Given the description of an element on the screen output the (x, y) to click on. 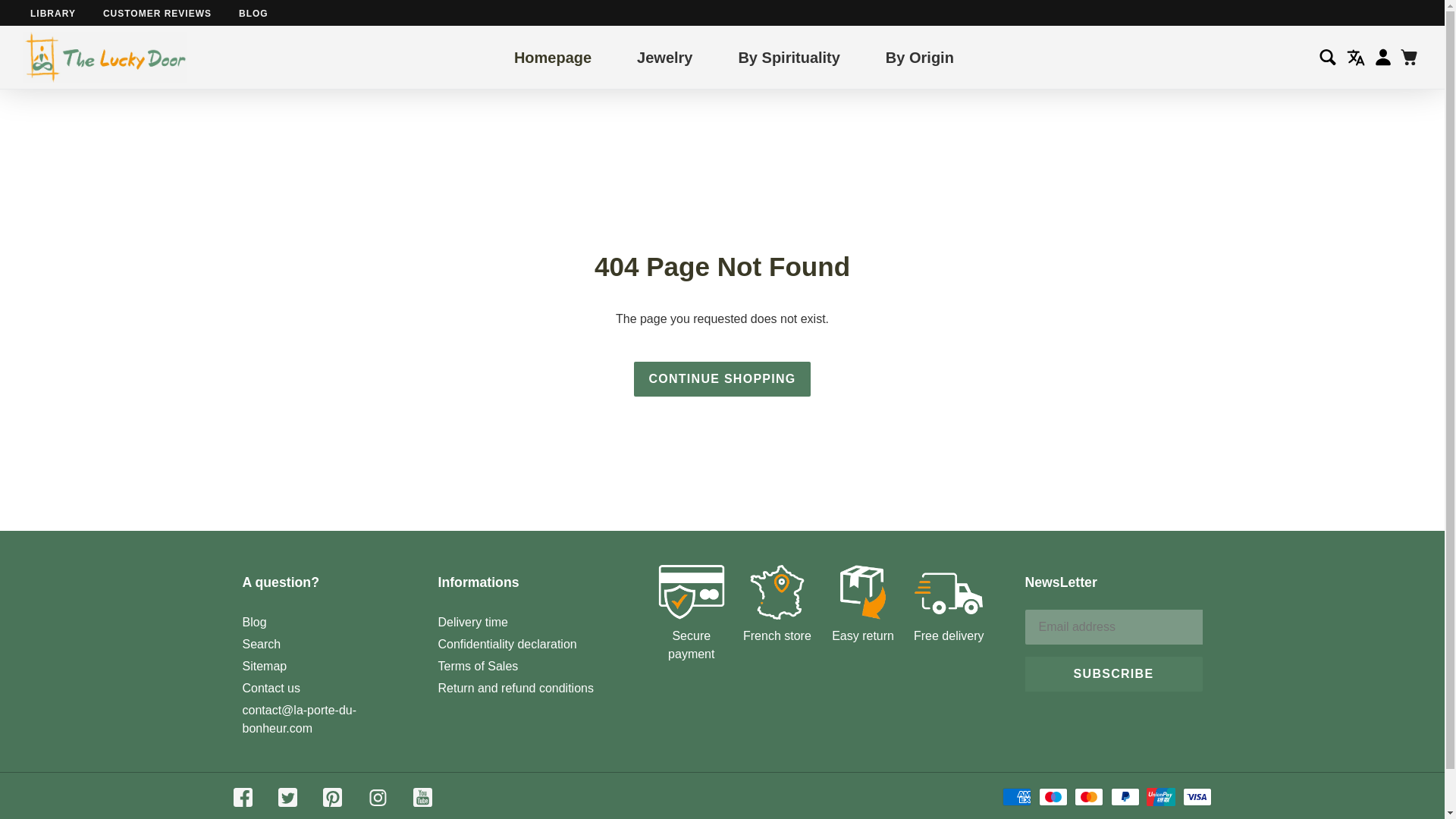
American Express (1016, 796)
Union Pay (1160, 796)
CUSTOMER REVIEWS (157, 13)
LIBRARY (52, 13)
Maestro (1053, 796)
PayPal (1125, 796)
Jewelry (664, 56)
Visa (1196, 796)
Mastercard (1088, 796)
Homepage (552, 56)
